Given the description of an element on the screen output the (x, y) to click on. 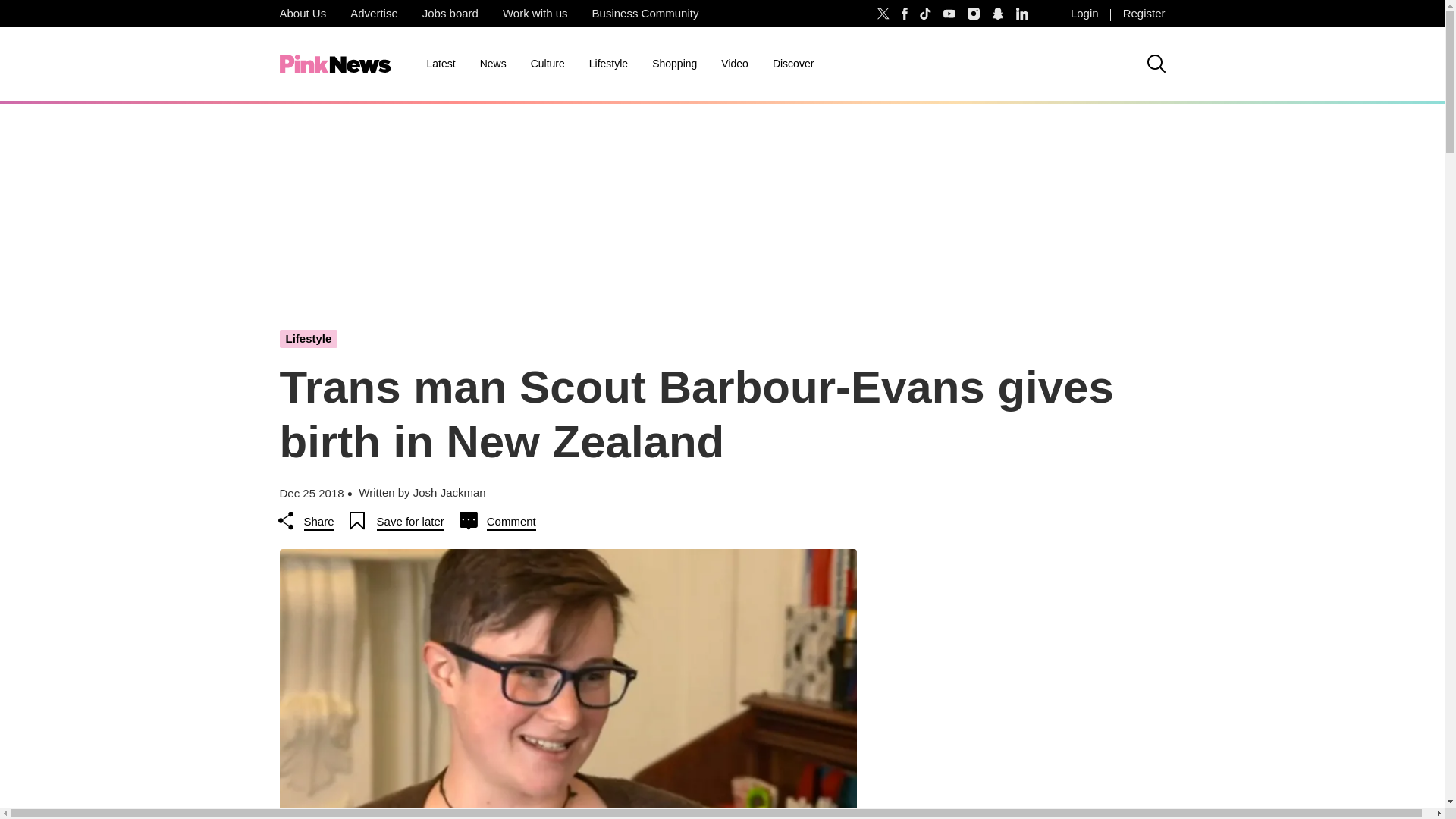
Login (1084, 13)
Follow PinkNews on LinkedIn (1021, 13)
Register (1143, 13)
News (493, 63)
Business Community (645, 13)
Latest (440, 63)
Lifestyle (608, 63)
Work with us (534, 13)
Advertise (373, 13)
Culture (547, 63)
